Given the description of an element on the screen output the (x, y) to click on. 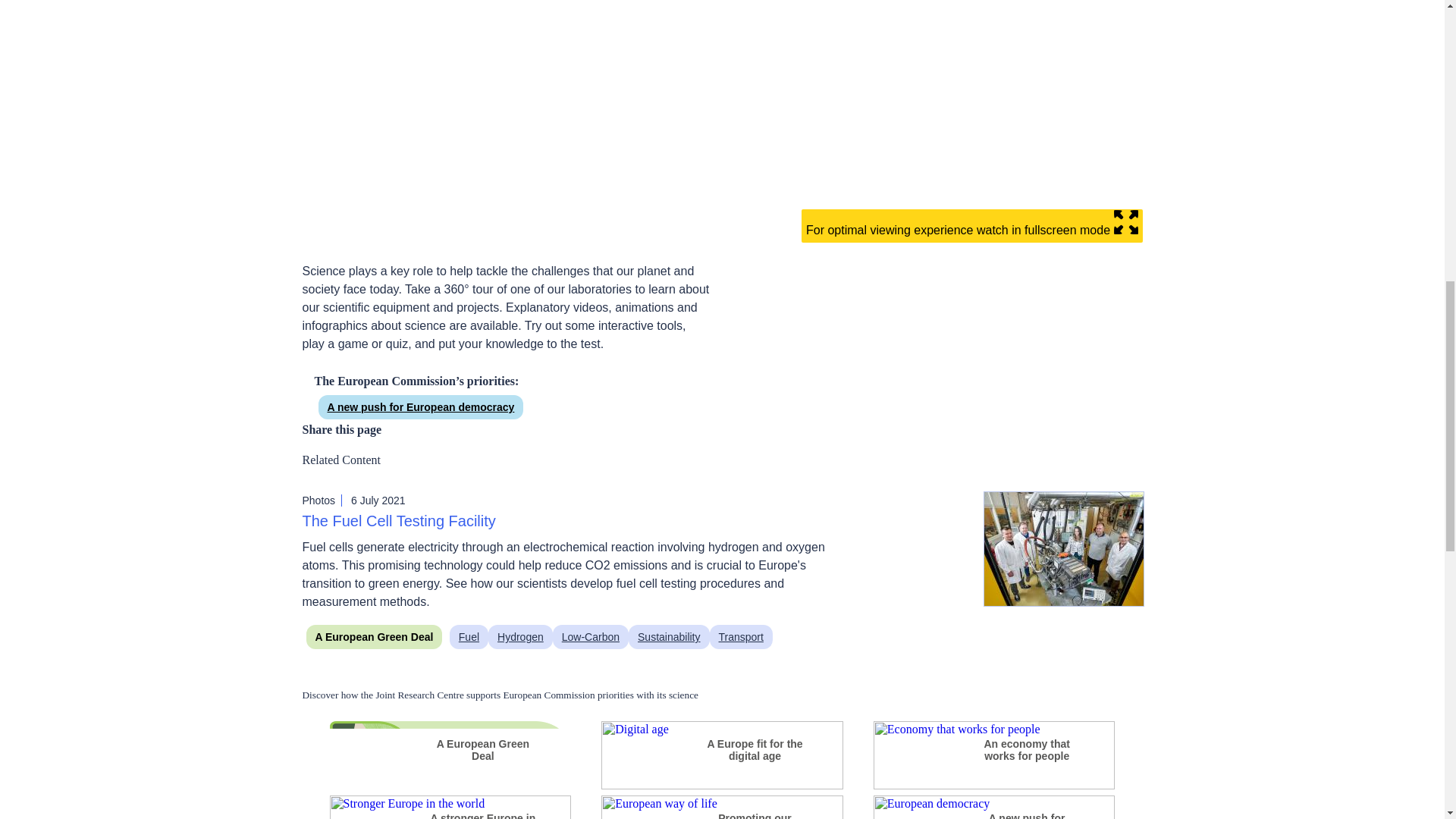
A Europe fit for the digital age (722, 784)
For optimal viewing experience watch in fullscreen mode (972, 225)
Hydrogen (520, 636)
Promoting our European way of life (754, 812)
A Europe fit for the digital age (754, 750)
For optimal viewing experience watch in fullscreen mode (721, 229)
A stronger Europe in the world (482, 812)
A European Green Deal (482, 750)
An economy that works for people (994, 784)
An economy that works for people (1026, 750)
Fuel (468, 636)
A new push for European democracy (1026, 812)
A new push for European democracy (421, 406)
Transport (741, 636)
Sustainability (669, 636)
